Given the description of an element on the screen output the (x, y) to click on. 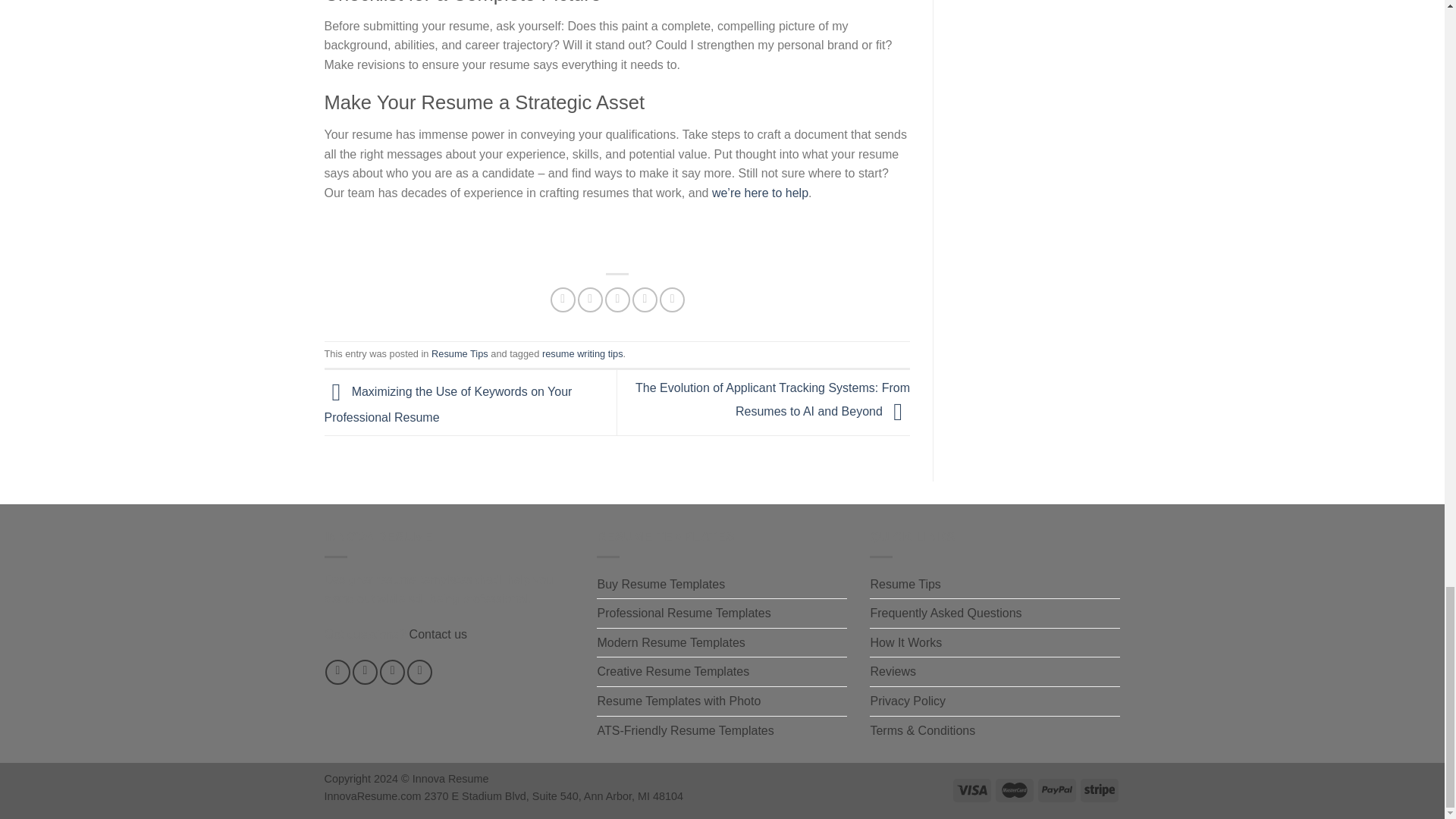
Follow on Pinterest (419, 672)
Follow on Twitter (392, 672)
Share on LinkedIn (671, 299)
Maximizing the Use of Keywords on Your Professional Resume (448, 404)
Follow on Instagram (364, 672)
Follow on Facebook (337, 672)
Share on Facebook (562, 299)
Email to a Friend (617, 299)
resume writing tips (582, 353)
